Given the description of an element on the screen output the (x, y) to click on. 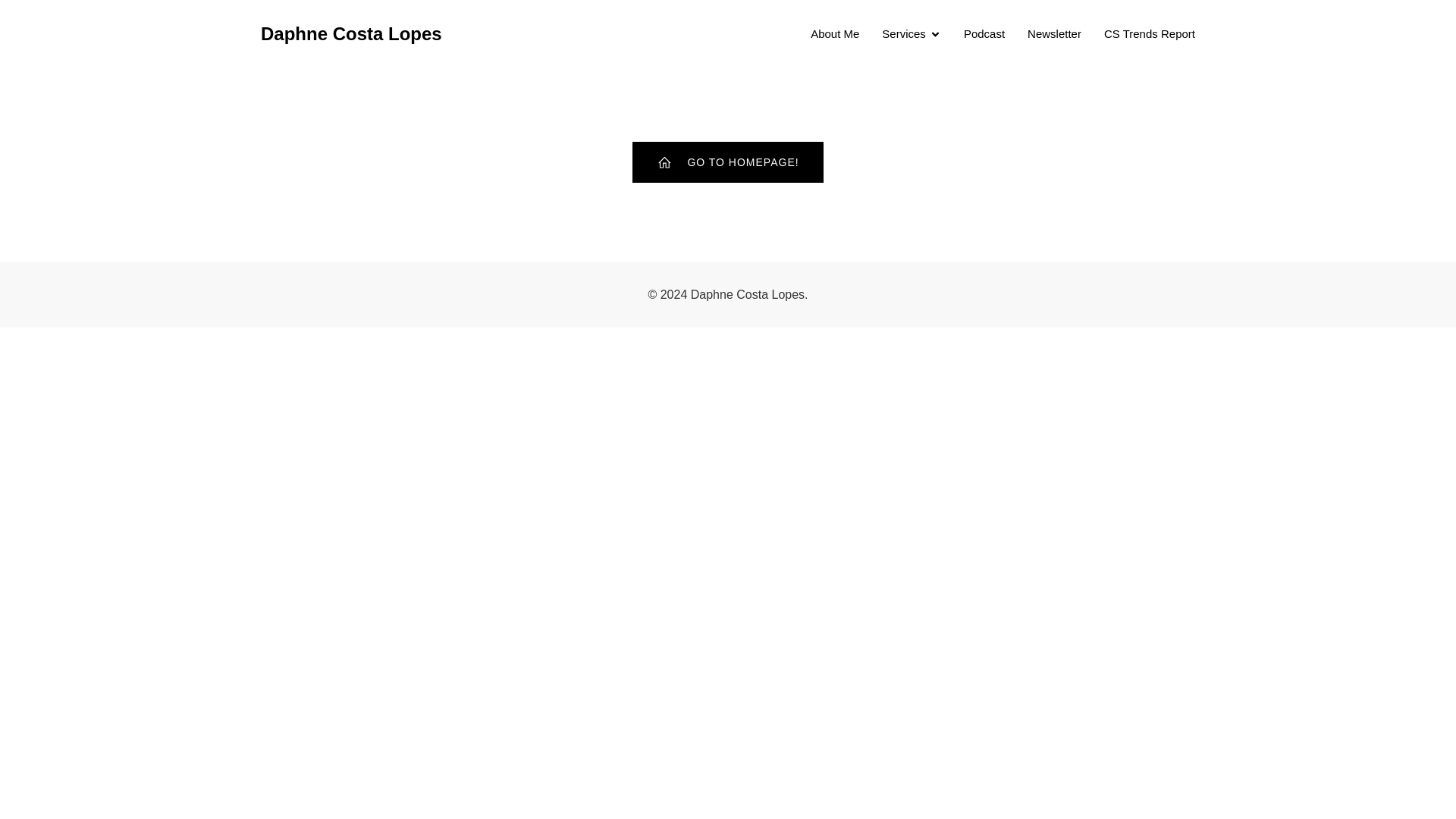
Podcast (983, 34)
Services (911, 34)
CS Trends Report (1149, 34)
About Me (834, 34)
Newsletter (1054, 34)
Daphne Costa Lopes (351, 33)
GO TO HOMEPAGE! (726, 161)
